Given the description of an element on the screen output the (x, y) to click on. 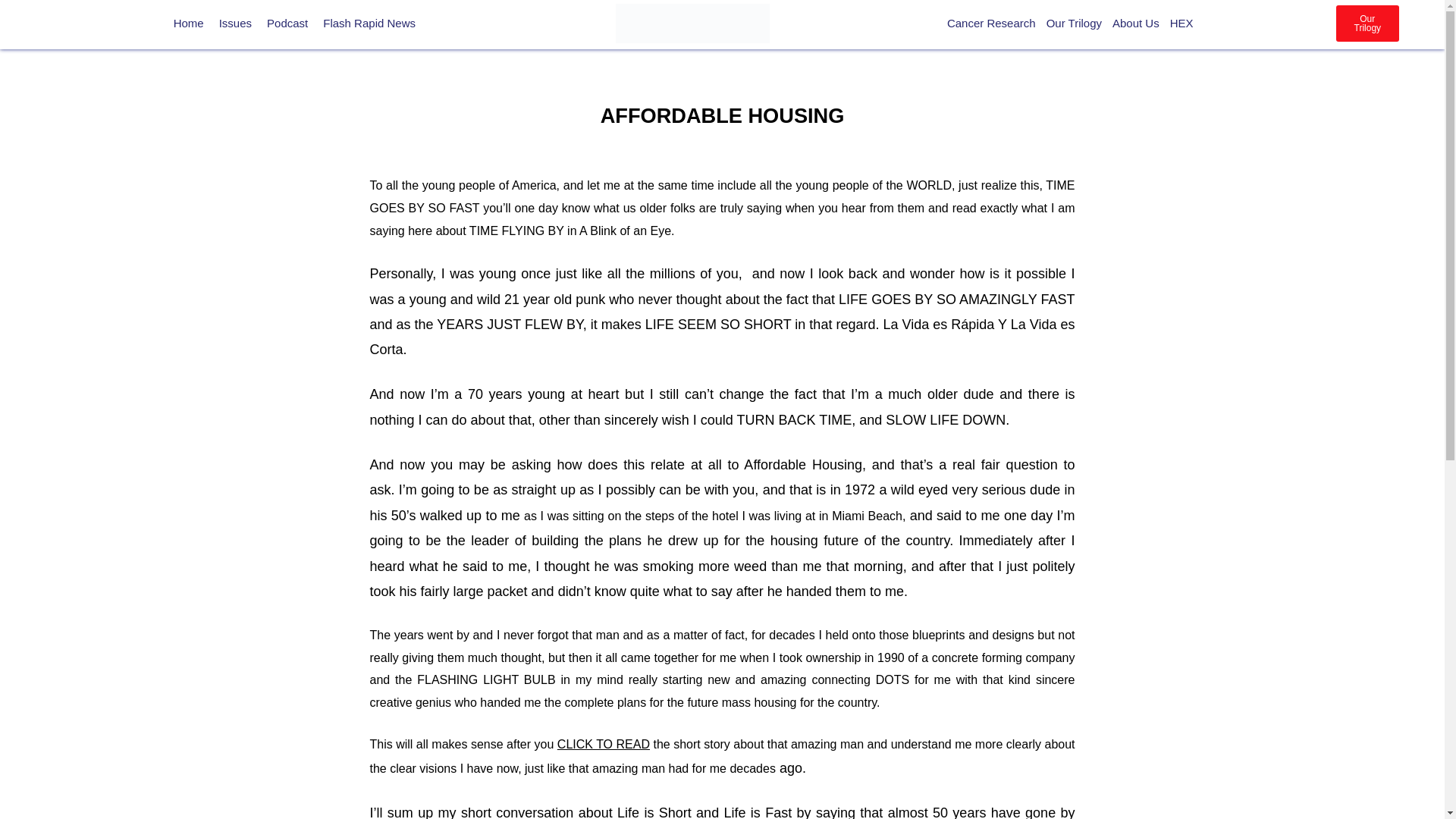
Issues (235, 22)
Podcast (287, 22)
About Us (1135, 22)
Our Trilogy (1073, 22)
Home (188, 22)
Cancer Research (991, 22)
Flash Rapid News (369, 22)
